Given the description of an element on the screen output the (x, y) to click on. 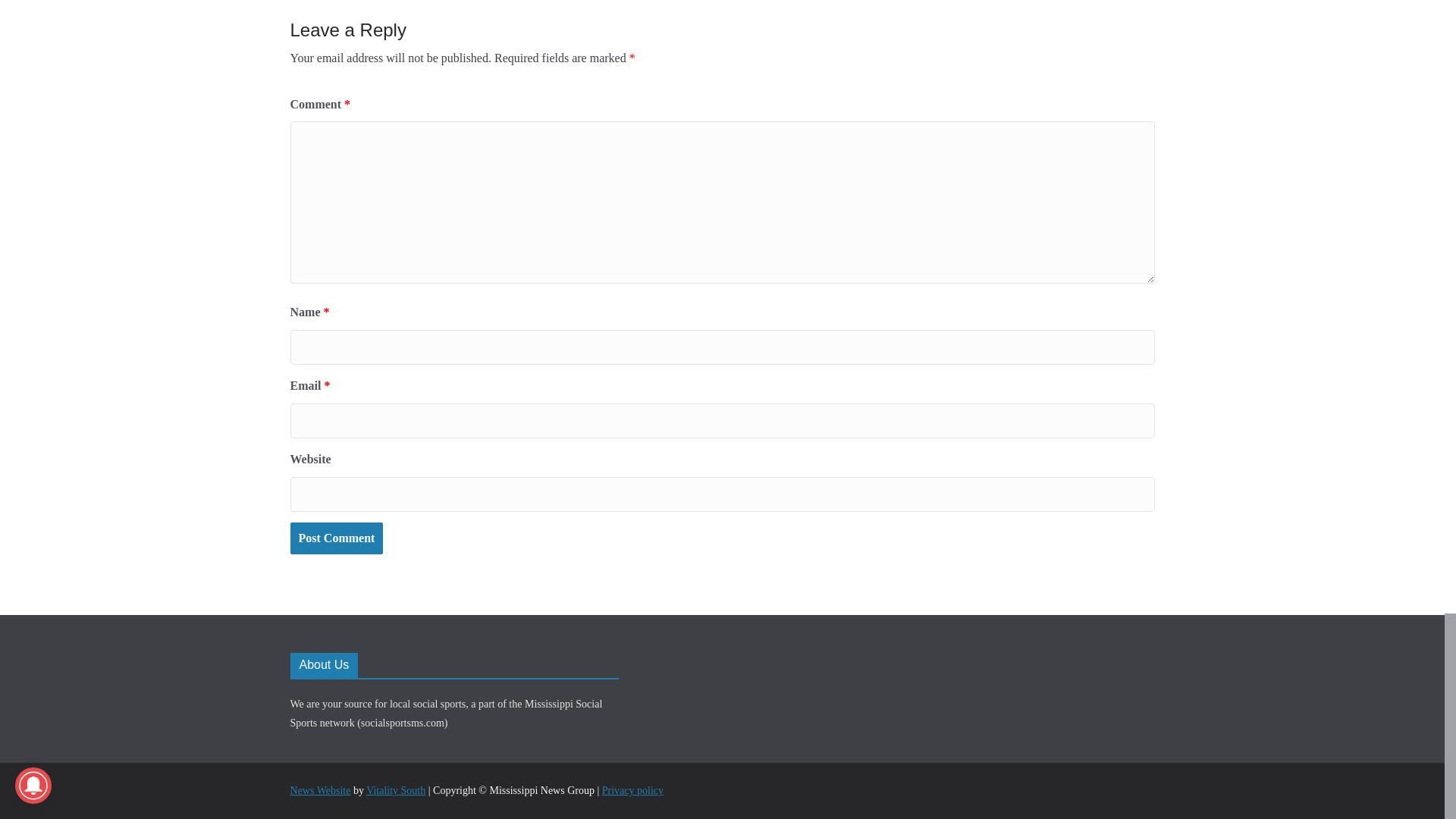
Post Comment (335, 538)
